Given the description of an element on the screen output the (x, y) to click on. 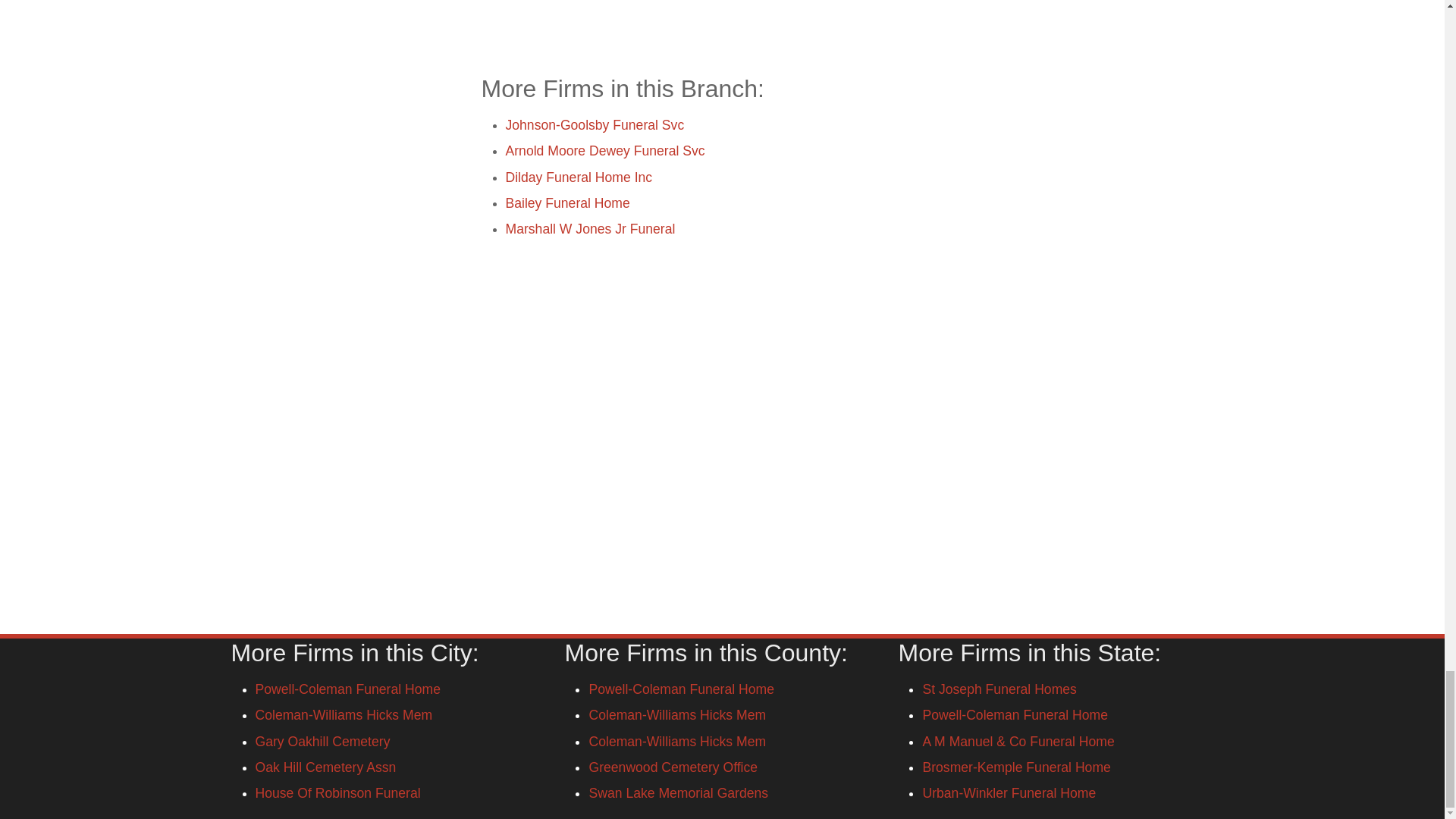
Arnold Moore Dewey Funeral Svc (604, 150)
Dilday Funeral Home Inc (578, 177)
Johnson-Goolsby Funeral Svc (594, 124)
Marshall W Jones Jr Funeral (590, 228)
Bailey Funeral Home (566, 202)
